Given the description of an element on the screen output the (x, y) to click on. 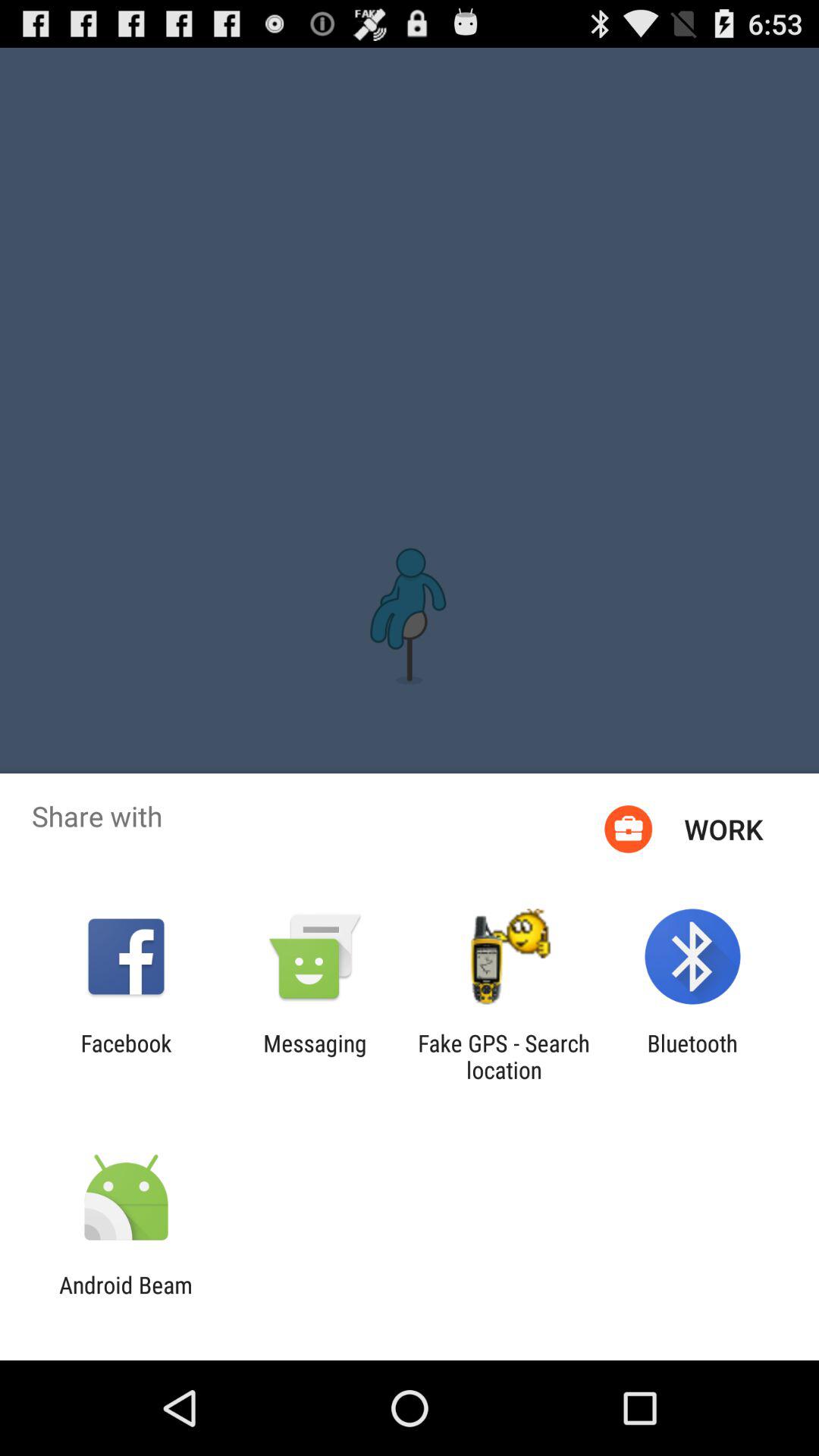
select bluetooth app (692, 1056)
